Given the description of an element on the screen output the (x, y) to click on. 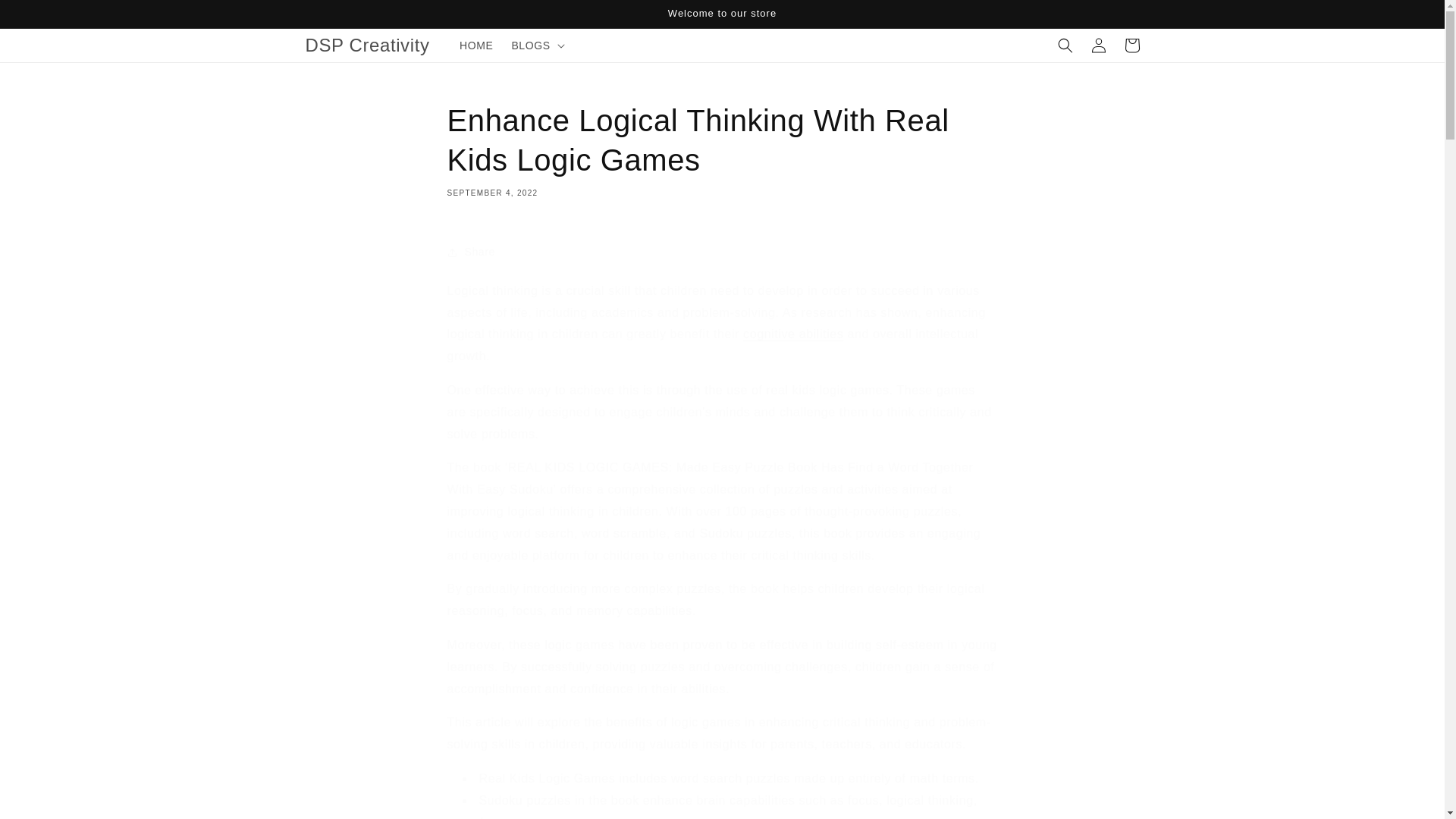
HOME (475, 45)
Skip to content (45, 17)
cognitive abilities (792, 333)
Log in (1098, 45)
Cart (1131, 45)
DSP Creativity (367, 44)
Share (721, 252)
cognitive abilities (792, 333)
